Given the description of an element on the screen output the (x, y) to click on. 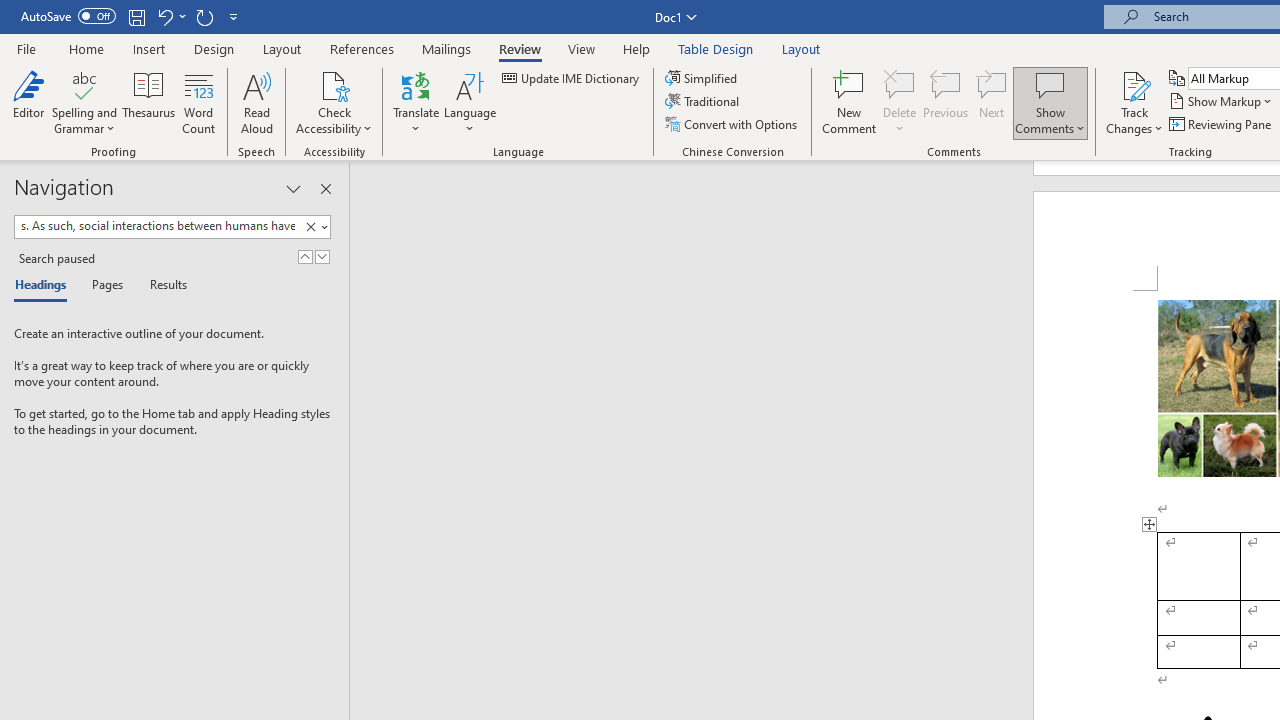
Translate (415, 102)
Delete (900, 102)
Show Markup (1222, 101)
Results (161, 285)
Pages (105, 285)
New Comment (849, 102)
Repeat Style (204, 15)
Check Accessibility (334, 84)
Traditional (703, 101)
Delete (900, 84)
Previous (946, 102)
